Given the description of an element on the screen output the (x, y) to click on. 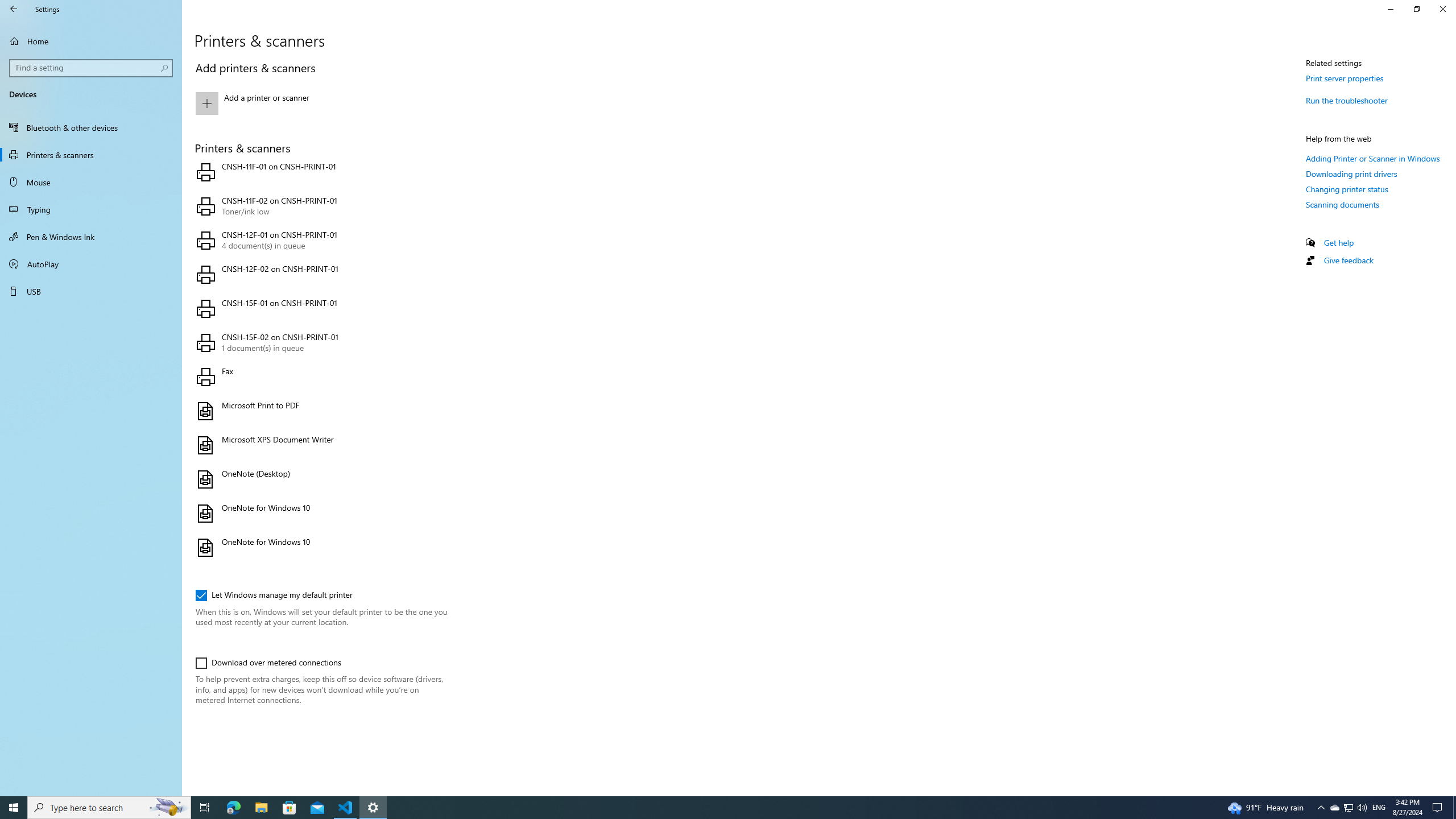
CNSH-11F-01 on CNSH-PRINT-01 (319, 172)
Give feedback (1348, 259)
Typing (91, 208)
Changing printer status (1347, 188)
Scanning documents (1343, 204)
Bluetooth & other devices (91, 126)
CNSH-11F-02 on CNSH-PRINT-01 Toner/ink low (319, 206)
CNSH-15F-02 on CNSH-PRINT-01 1 document(s) in queue (319, 342)
Pen & Windows Ink (91, 236)
CNSH-15F-01 on CNSH-PRINT-01 (319, 308)
